Given the description of an element on the screen output the (x, y) to click on. 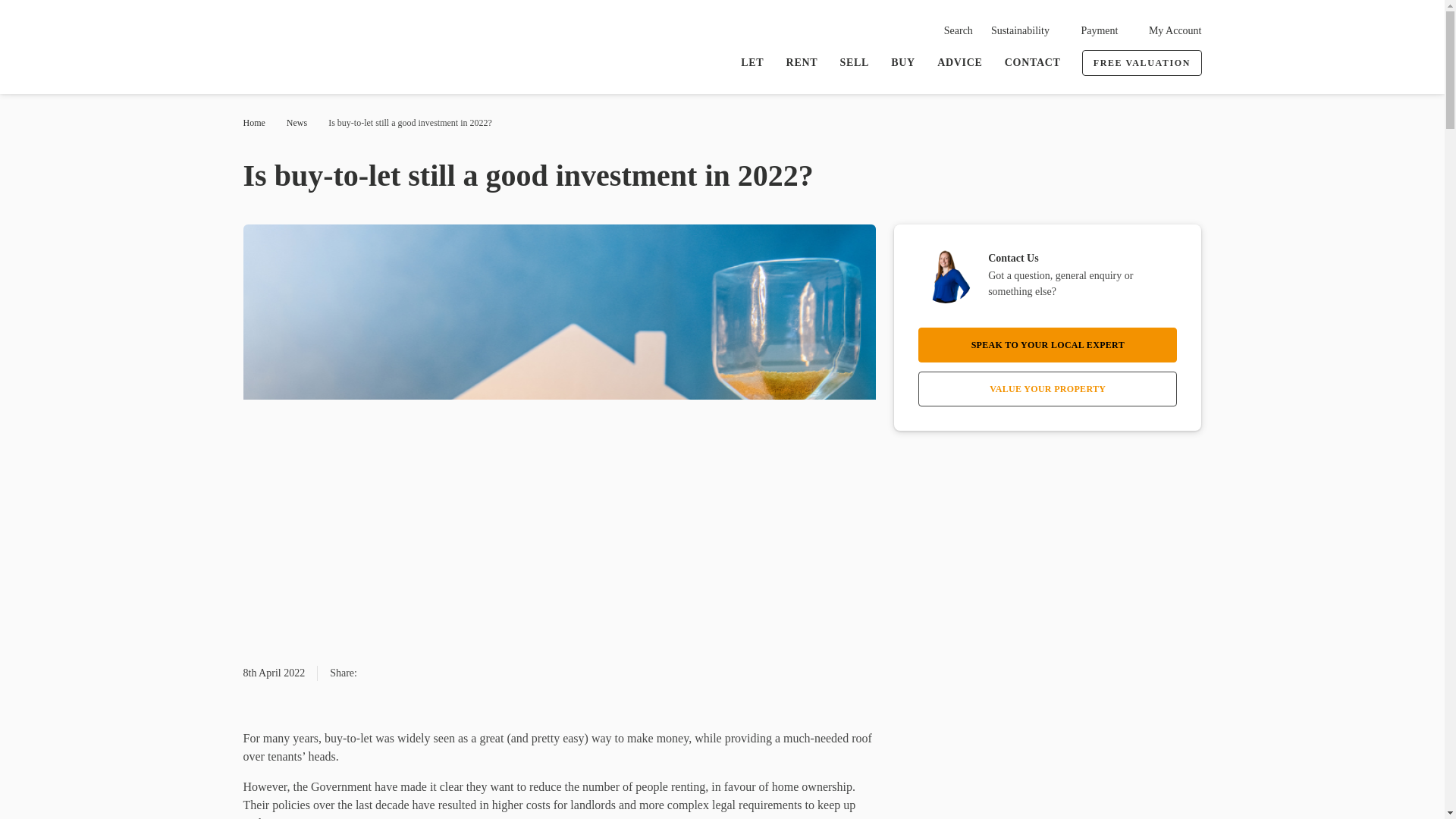
Search Open (951, 30)
SELL (854, 62)
Scottfraser (321, 48)
LET (752, 62)
Payment (1092, 30)
Email (376, 672)
LinkedIn (486, 672)
Sustainability (1020, 30)
Facebook (404, 672)
Twitter (431, 672)
Pinterest (458, 672)
RENT (801, 62)
My Account (1168, 30)
